Given the description of an element on the screen output the (x, y) to click on. 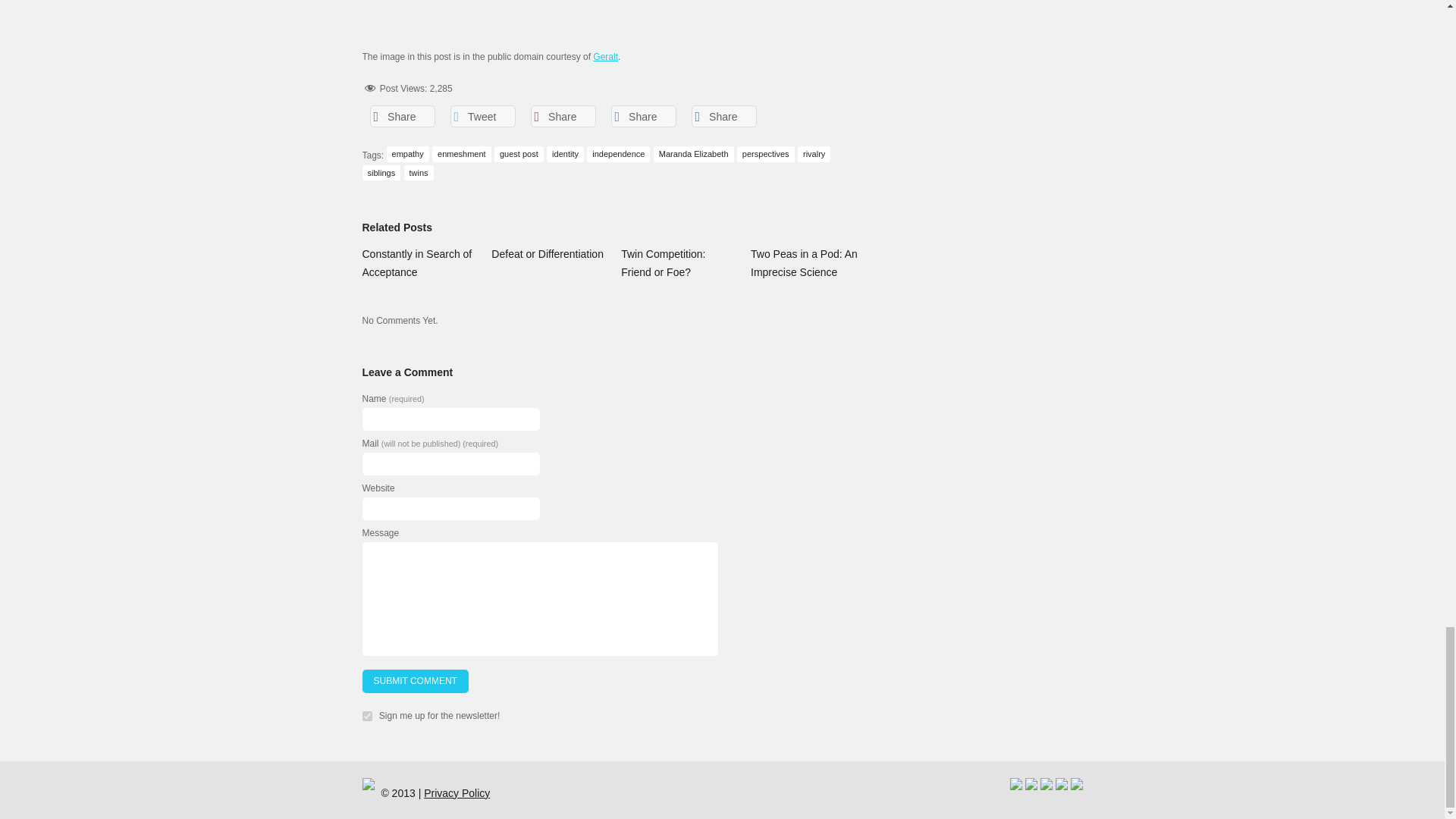
empathy (408, 154)
Share (724, 116)
Share (402, 116)
Share on Facebook (402, 116)
Share on LinkedIn (644, 116)
Geralt (604, 56)
Share (644, 116)
Share on Twitter (482, 116)
Tweet (482, 116)
Share on Digg (724, 116)
